Given the description of an element on the screen output the (x, y) to click on. 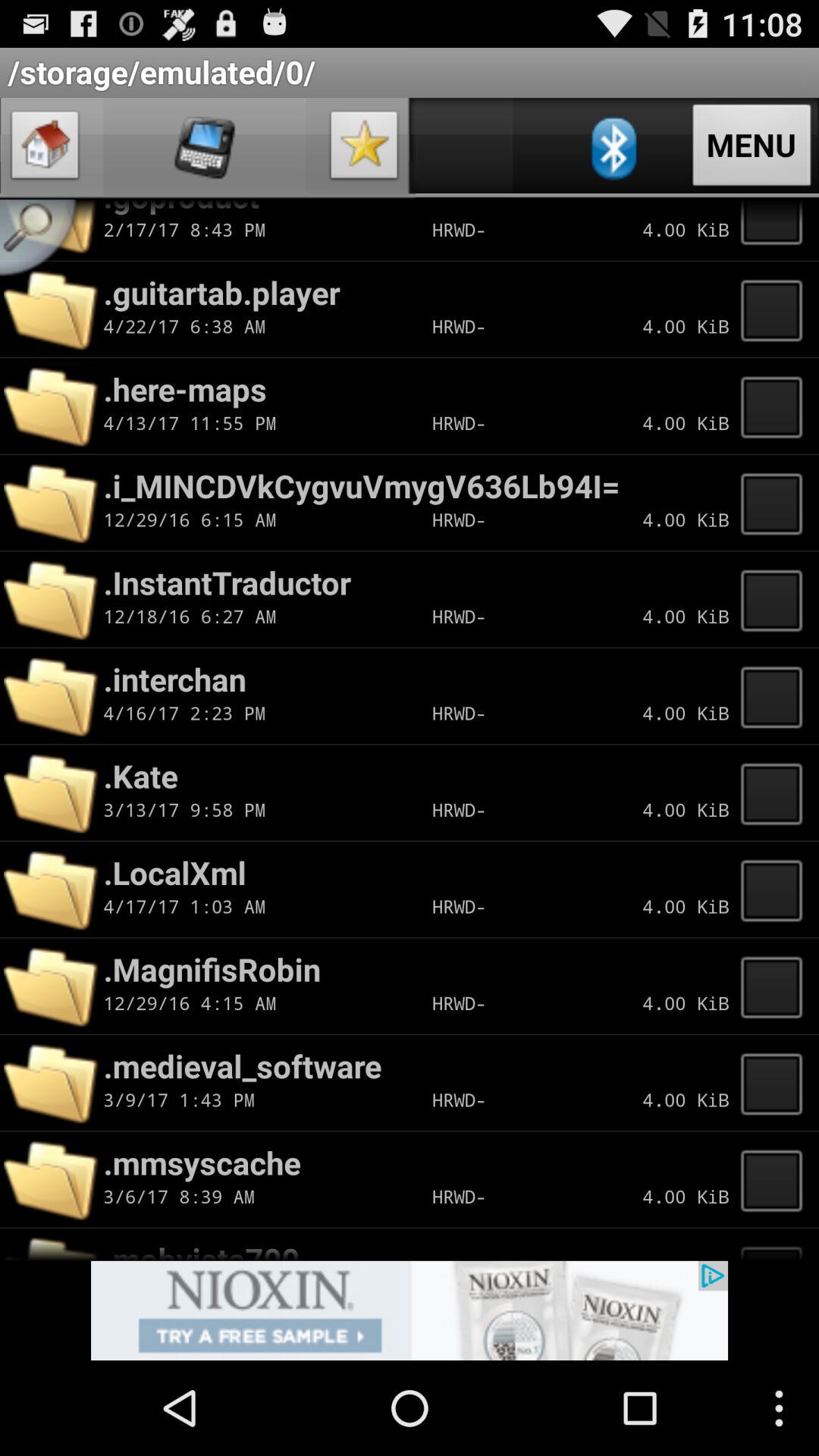
choose file (776, 985)
